Given the description of an element on the screen output the (x, y) to click on. 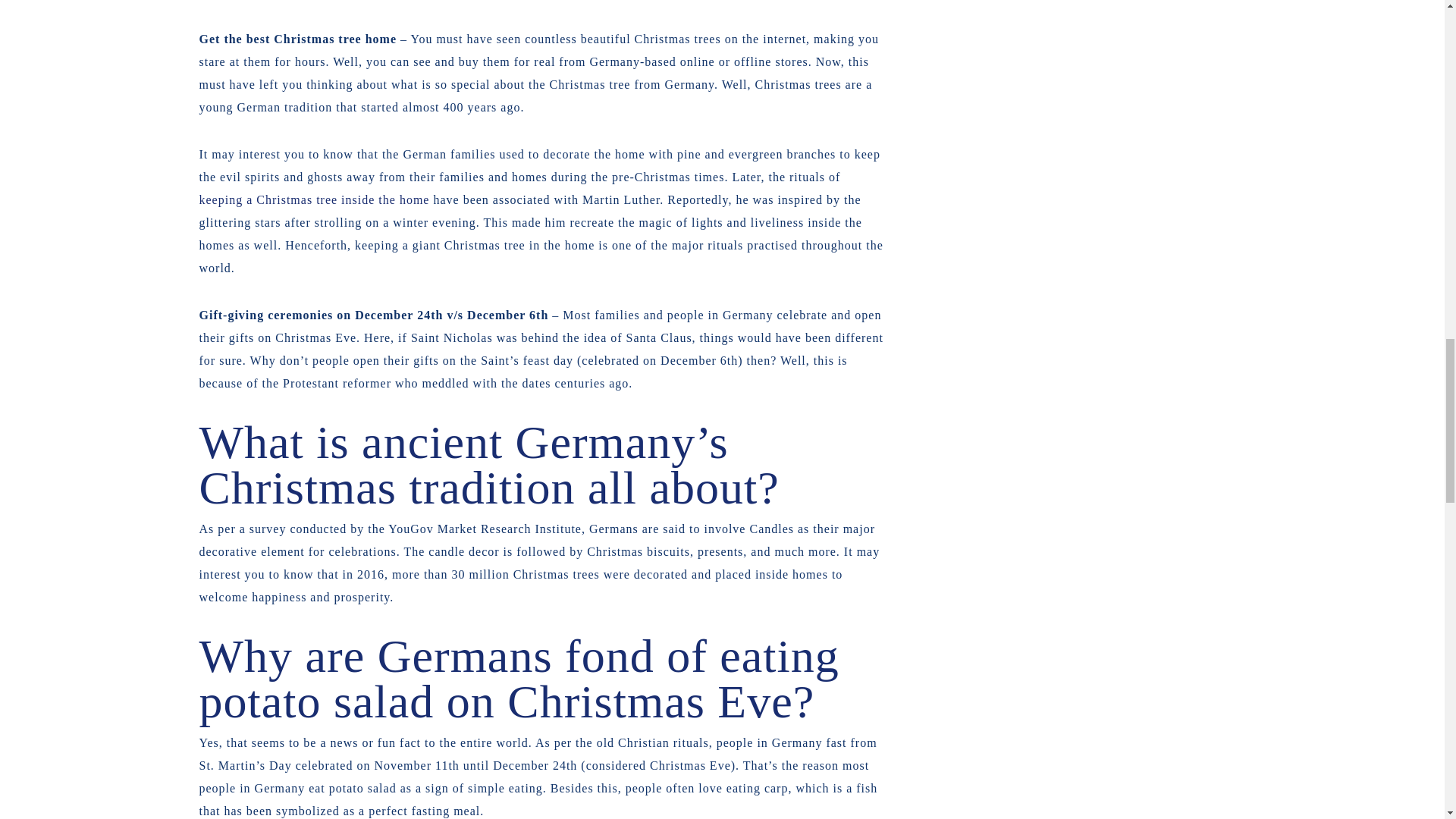
keeping a Christmas tree inside the home (313, 199)
